Given the description of an element on the screen output the (x, y) to click on. 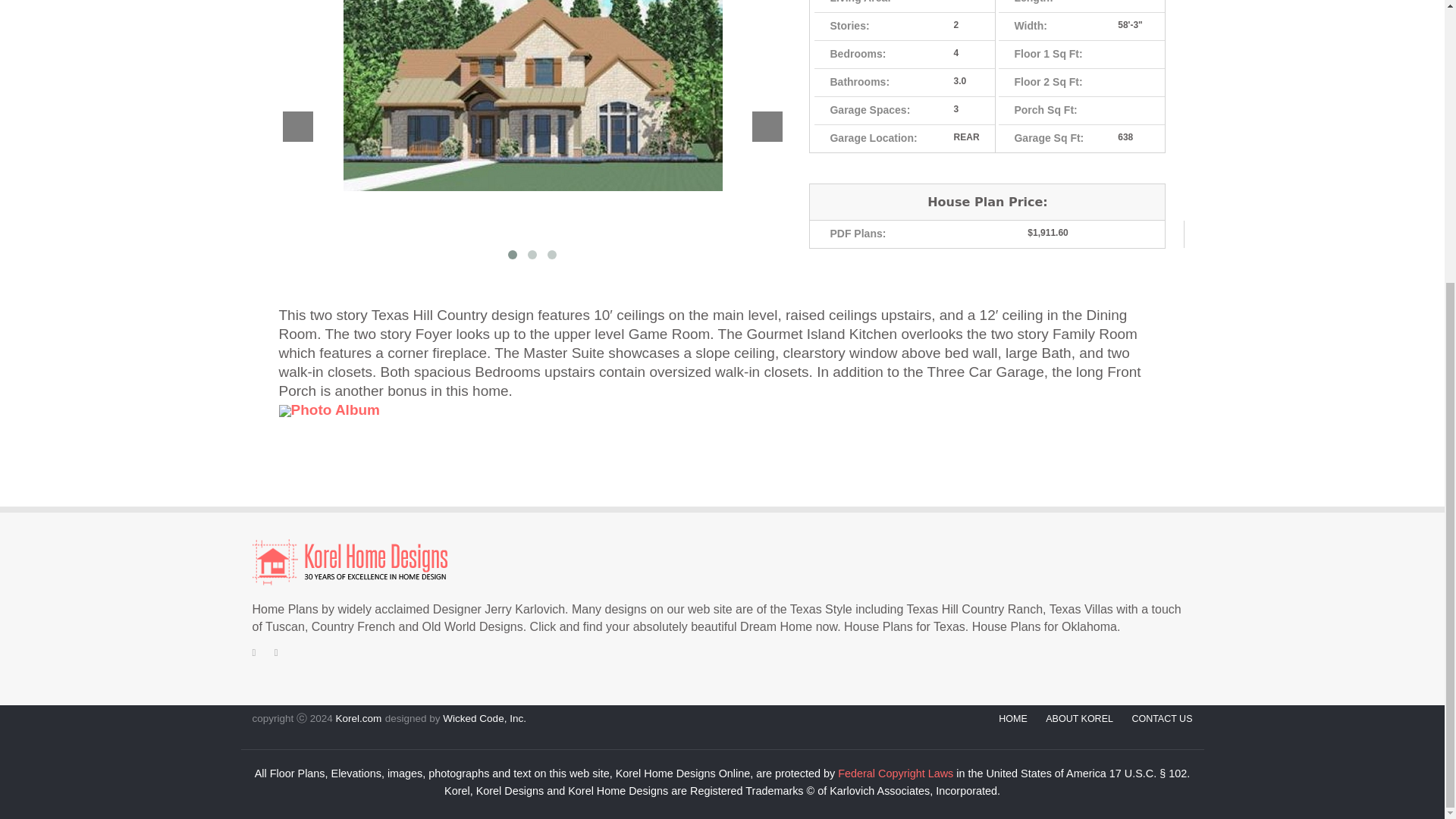
ABOUT KOREL (1079, 718)
HOME (1012, 718)
Federal Copyright Laws (895, 773)
Photo Album (329, 409)
Wicked Code, Inc. (483, 717)
CONTACT US (1161, 718)
Korel.com (357, 717)
